Given the description of an element on the screen output the (x, y) to click on. 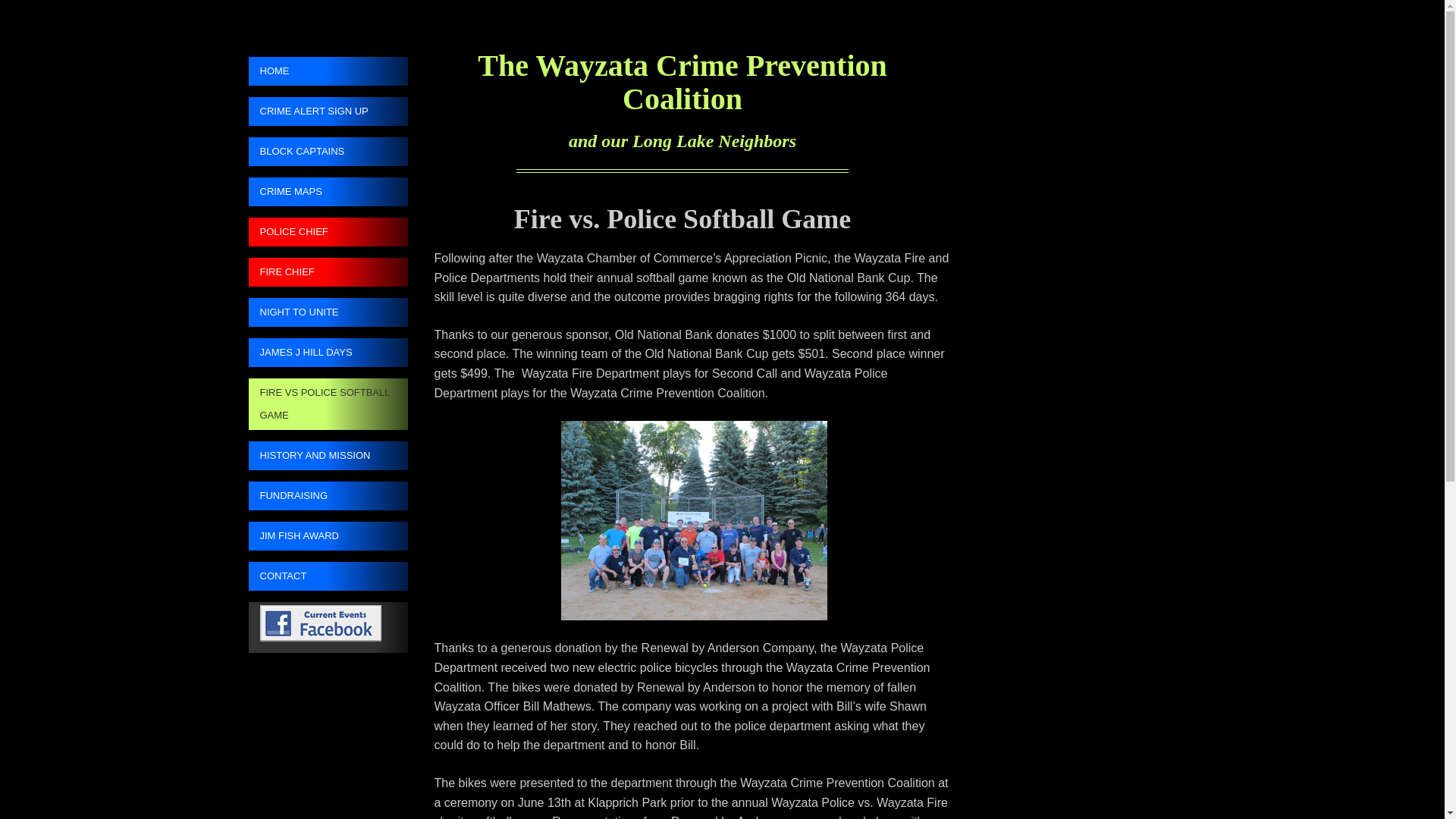
BLOCK CAPTAINS (327, 151)
CONTACT (327, 575)
POLICE CHIEF (327, 231)
HISTORY AND MISSION (327, 455)
FUNDRAISING (327, 495)
JIM FISH AWARD (327, 535)
Skip to content (288, 66)
NIGHT TO UNITE (327, 312)
Skip to content (288, 66)
facebook (327, 626)
HOME (327, 70)
FIRE VS POLICE SOFTBALL GAME (327, 403)
CRIME ALERT SIGN UP (327, 111)
FIRE CHIEF (327, 271)
JAMES J HILL DAYS (327, 352)
